Given the description of an element on the screen output the (x, y) to click on. 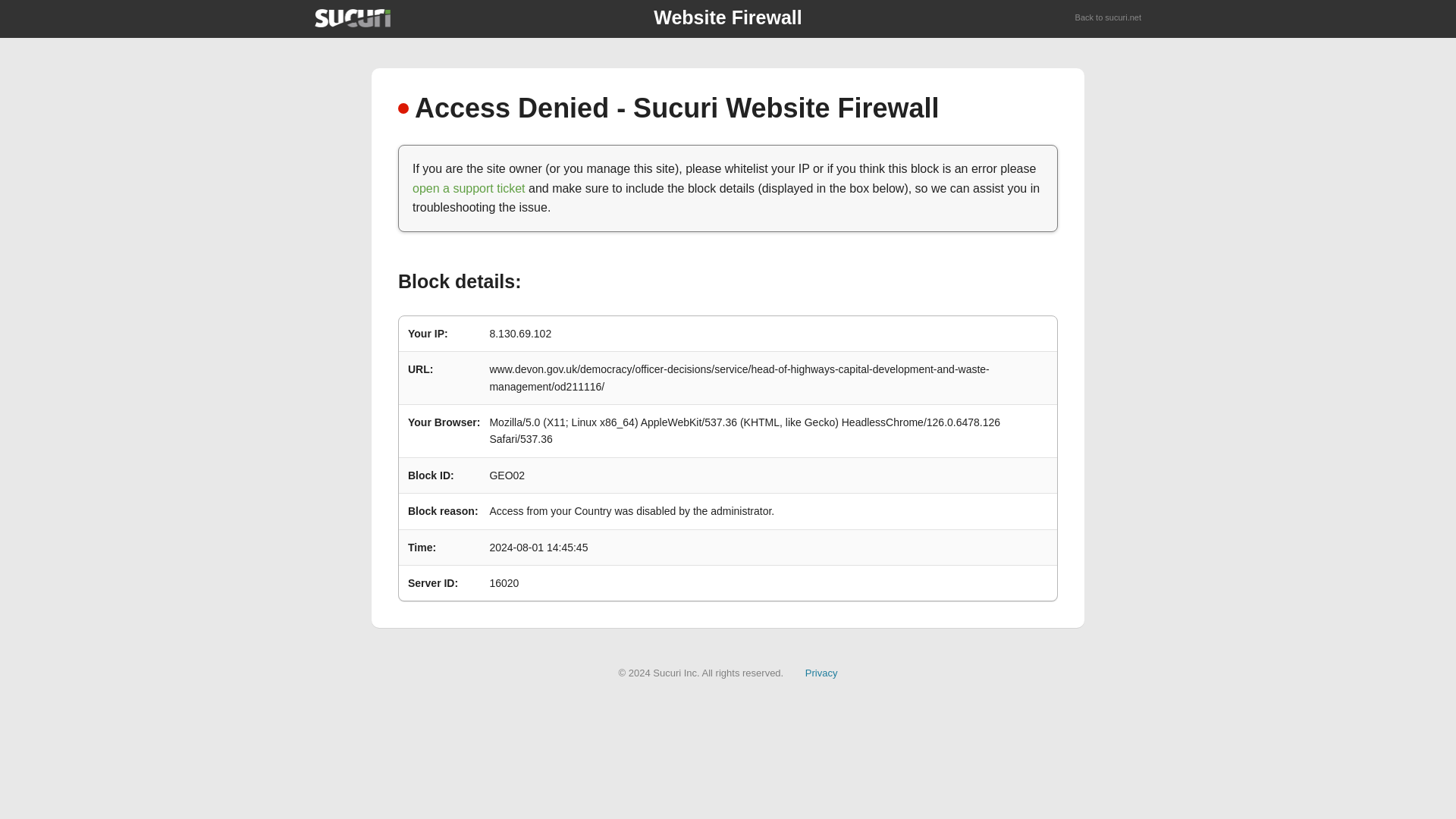
Back to sucuri.net (1108, 18)
open a support ticket (468, 187)
Privacy (821, 672)
